Given the description of an element on the screen output the (x, y) to click on. 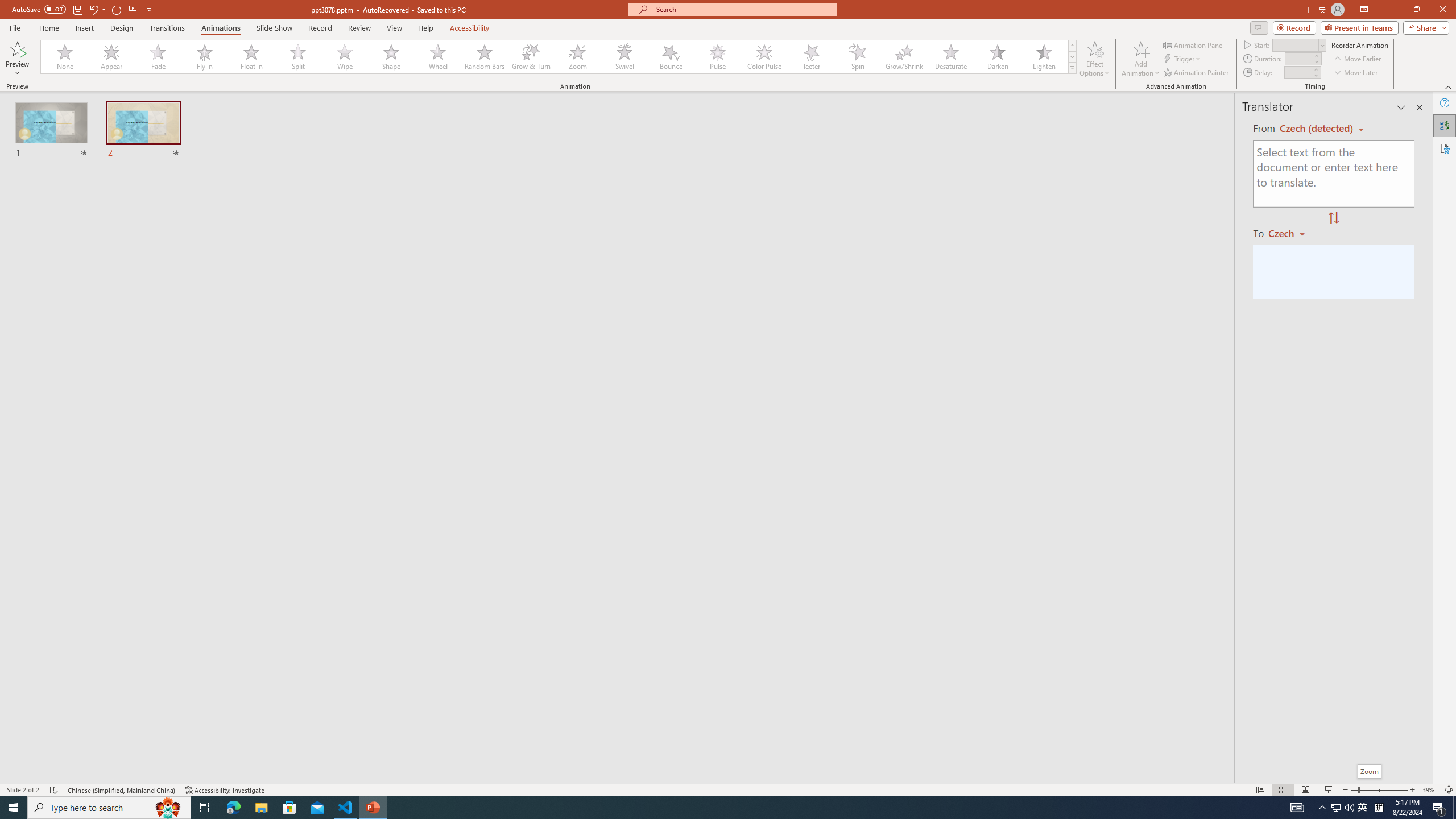
Move Earlier (1357, 58)
Trigger (1182, 58)
Add Animation (1141, 58)
Zoom 39% (1430, 790)
Appear (111, 56)
Czech (detected) (1317, 128)
